Given the description of an element on the screen output the (x, y) to click on. 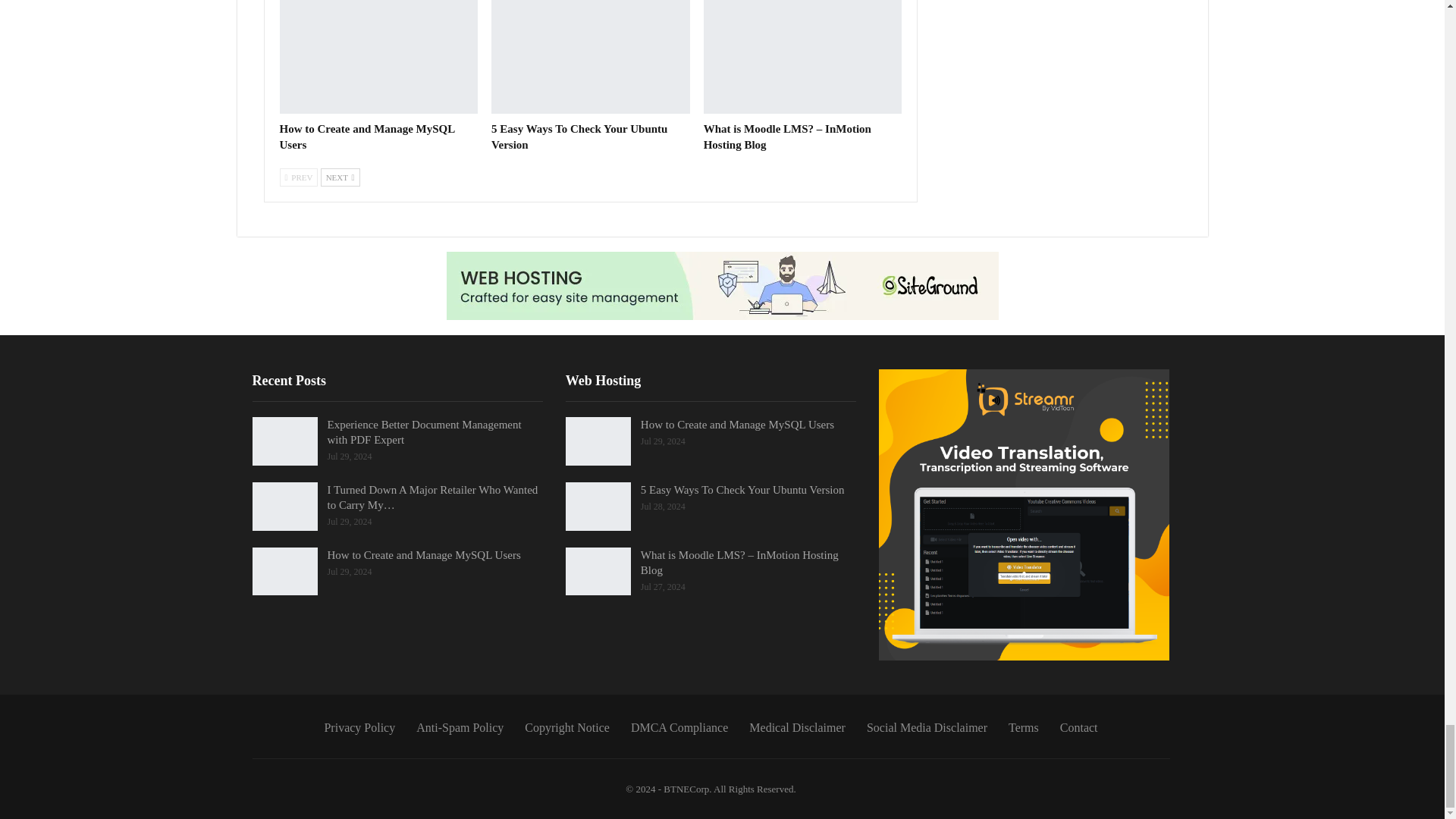
5 Easy Ways To Check Your Ubuntu Version (579, 136)
Next (339, 177)
5 Easy Ways To Check Your Ubuntu Version (591, 56)
Previous (298, 177)
How to Create and Manage MySQL Users (366, 136)
How to Create and Manage MySQL Users (378, 56)
